Given the description of an element on the screen output the (x, y) to click on. 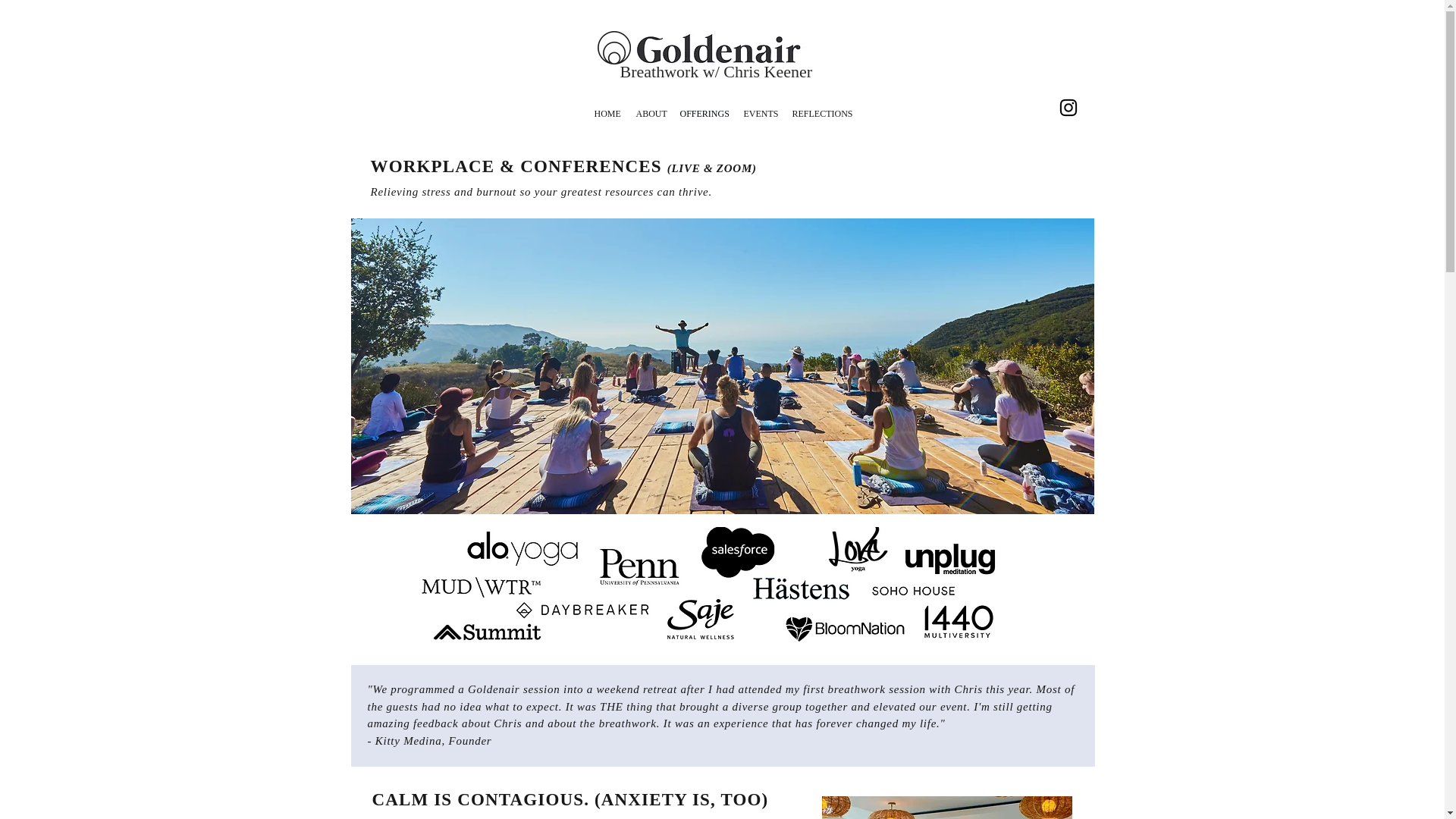
EVENTS (759, 114)
REFLECTIONS (821, 114)
HOME (607, 114)
ABOUT (649, 114)
OFFERINGS (703, 114)
